Given the description of an element on the screen output the (x, y) to click on. 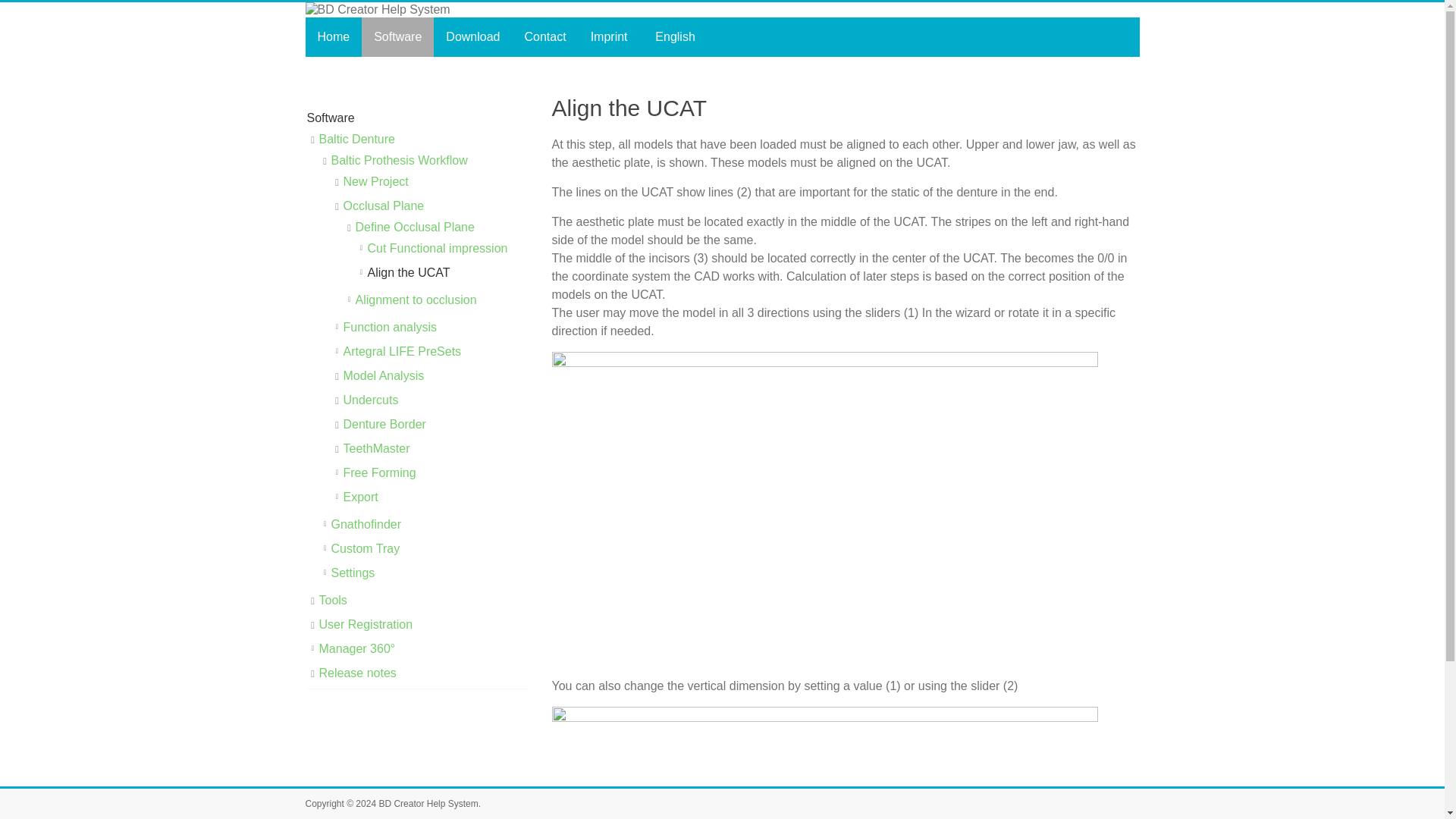
Export (359, 496)
Align the UCAT (407, 272)
Baltic Denture (356, 138)
User Registration (365, 624)
Contact (545, 36)
English (673, 36)
Baltic Prothesis Workflow (398, 160)
TeethMaster (375, 448)
Settings (352, 572)
Alignment to occlusion (415, 299)
